Given the description of an element on the screen output the (x, y) to click on. 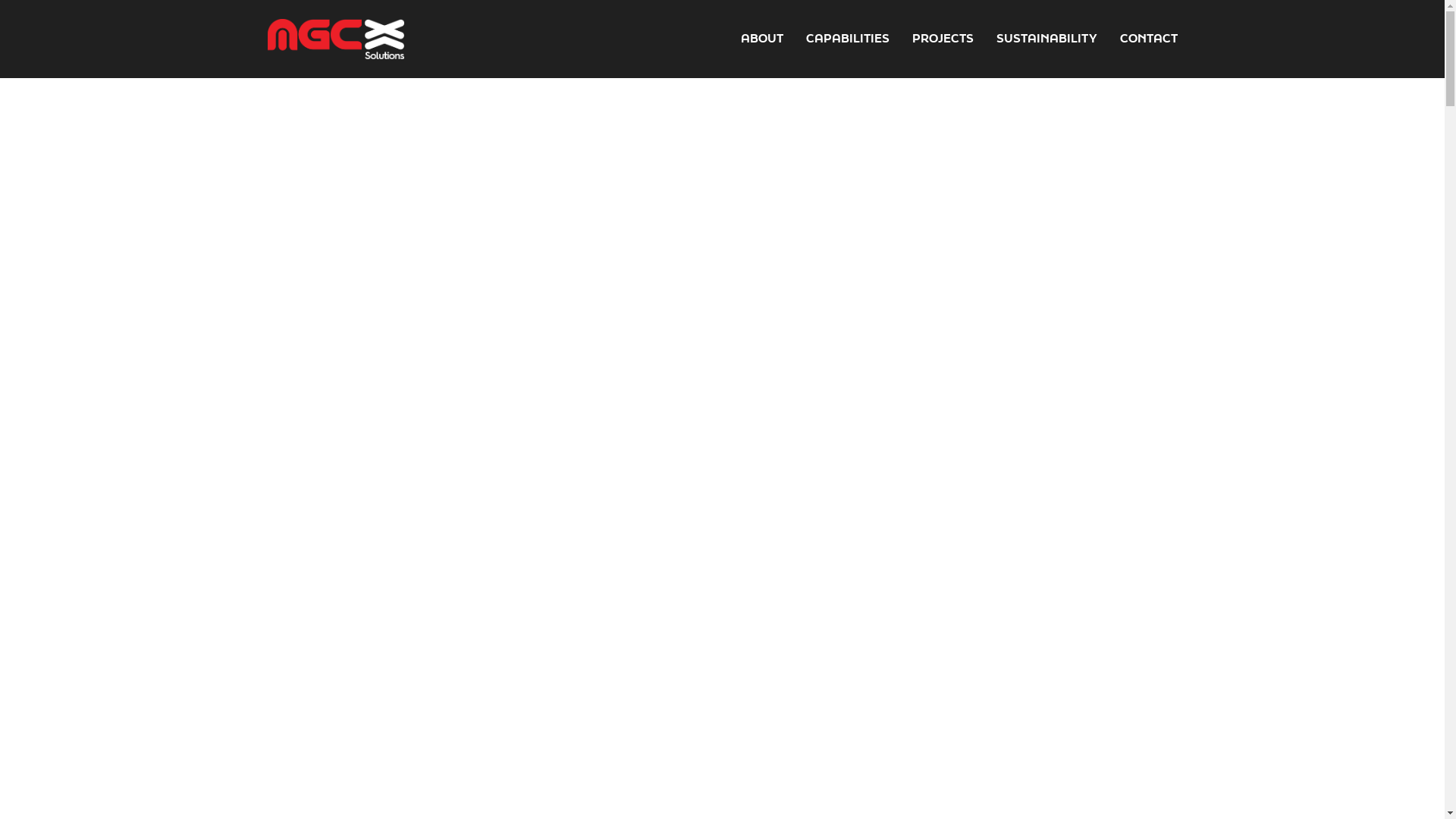
CONTACT Element type: text (1147, 39)
PROJECTS Element type: text (941, 39)
SUSTAINABILITY Element type: text (1046, 39)
ABOUT Element type: text (761, 39)
CAPABILITIES Element type: text (846, 39)
